Given the description of an element on the screen output the (x, y) to click on. 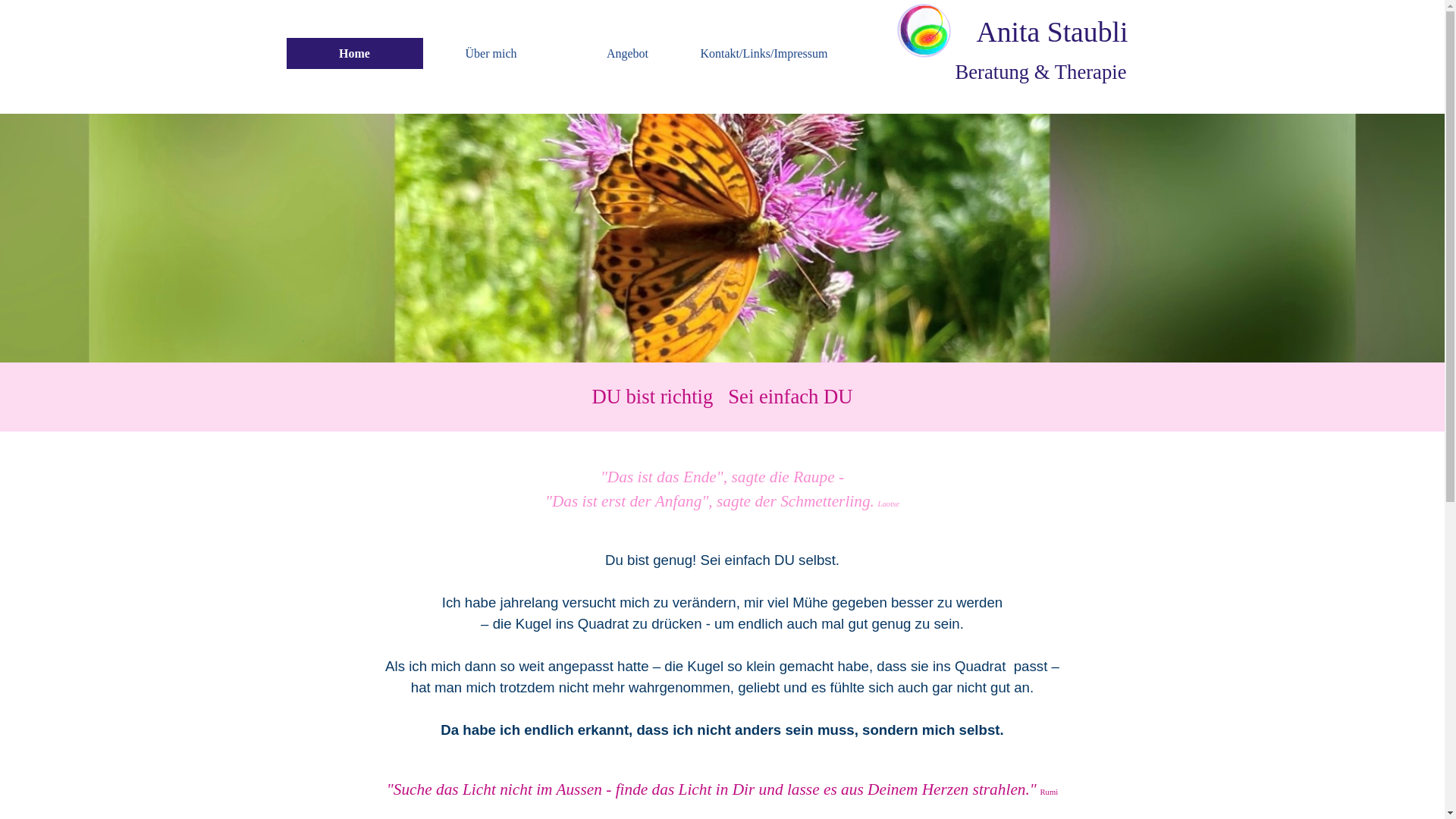
Home Element type: text (353, 53)
Kontakt/Links/Impressum Element type: text (763, 53)
